Given the description of an element on the screen output the (x, y) to click on. 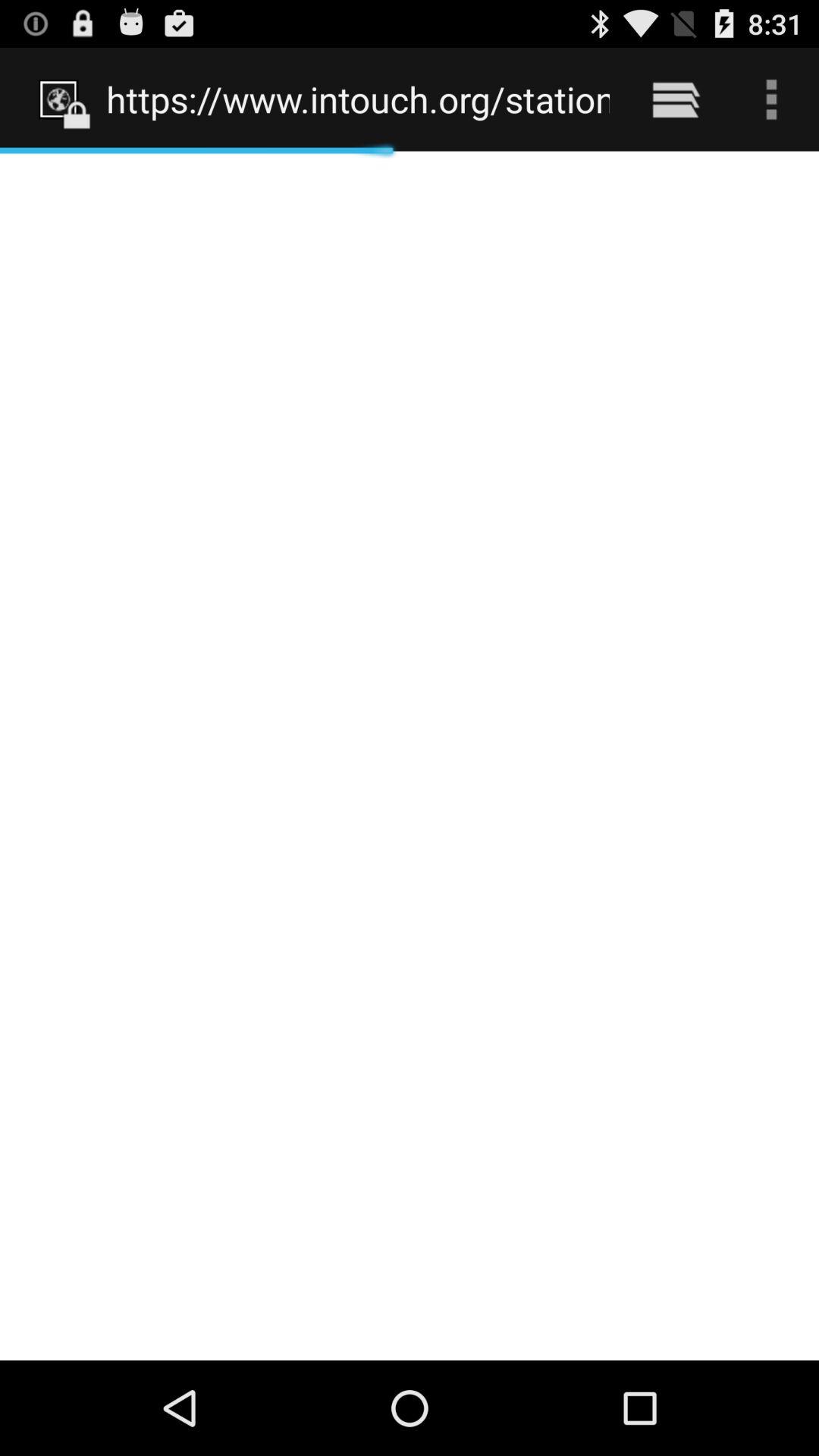
choose the item below https www intouch icon (409, 755)
